Given the description of an element on the screen output the (x, y) to click on. 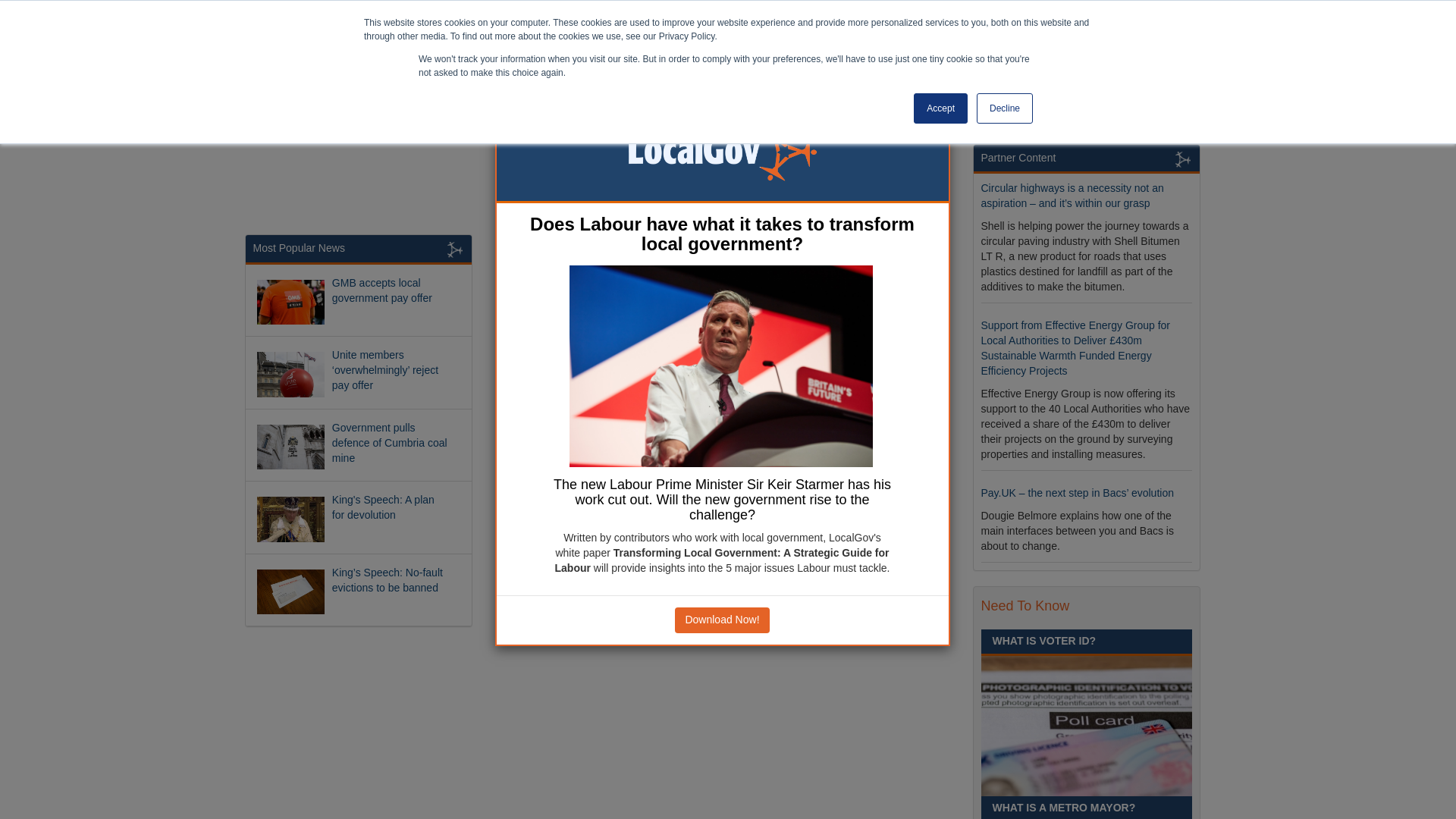
 Senior Temporary Accommodation Officer (1069, 92)
 Civil Enforcement Officer (1044, 254)
